Given the description of an element on the screen output the (x, y) to click on. 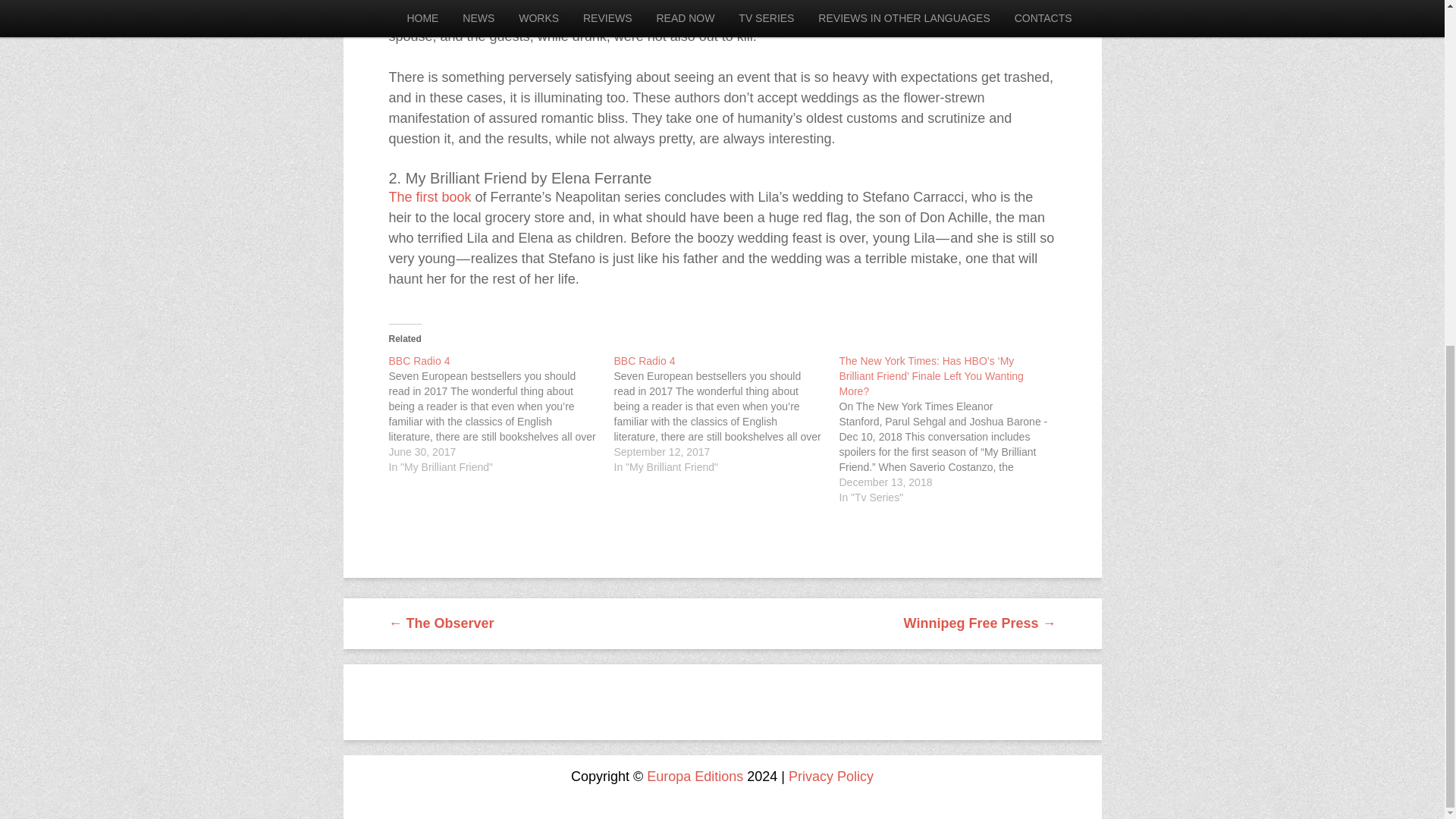
BBC Radio 4 (500, 413)
BBC Radio 4 (727, 413)
BBC Radio 4 (418, 360)
BBC Radio 4 (644, 360)
